Given the description of an element on the screen output the (x, y) to click on. 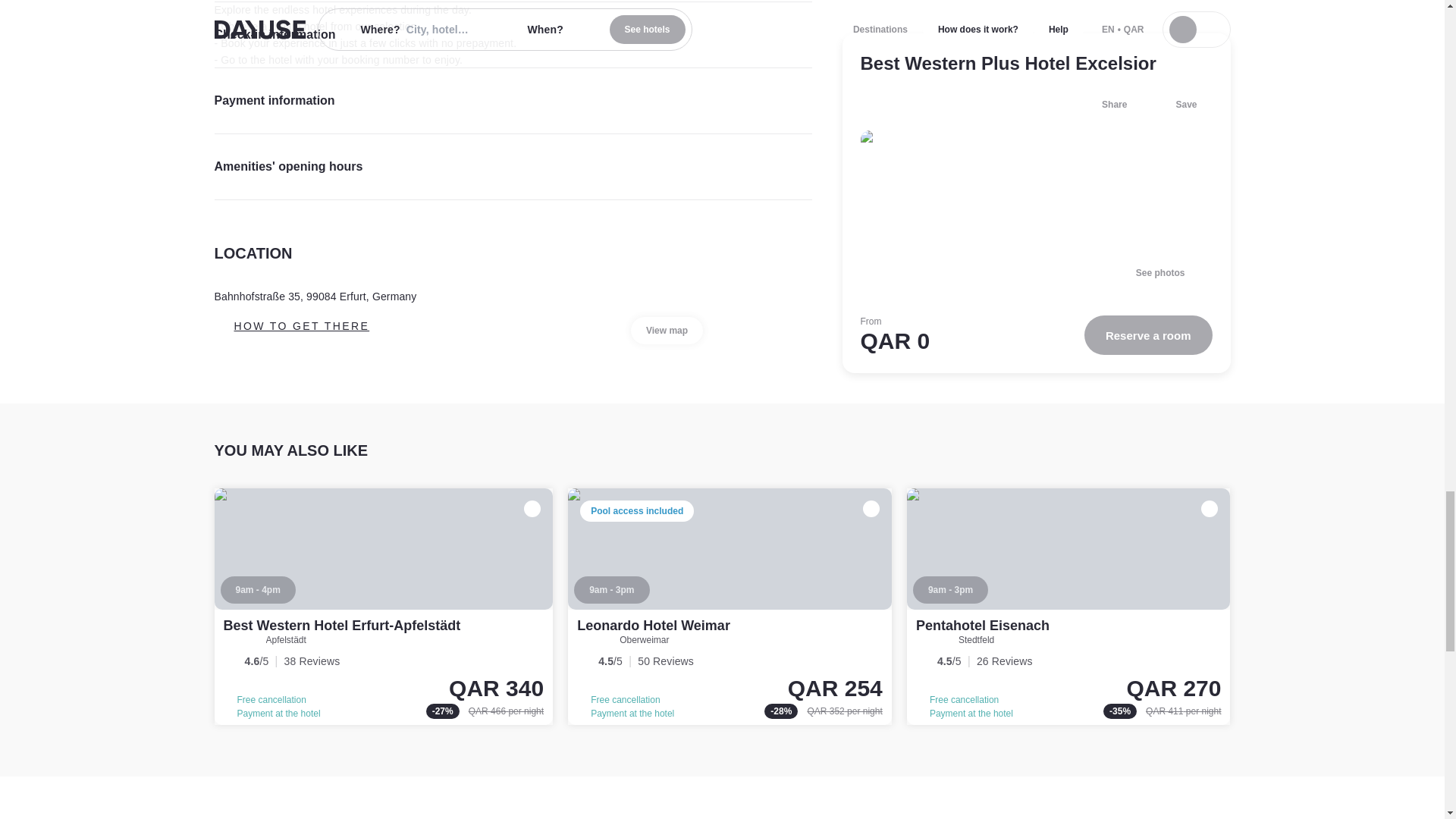
Leonardo Hotel Weimar (653, 625)
Pentahotel Eisenach (982, 625)
Leonardo Hotel Weimar (729, 606)
Pentahotel Eisenach (1068, 606)
